Given the description of an element on the screen output the (x, y) to click on. 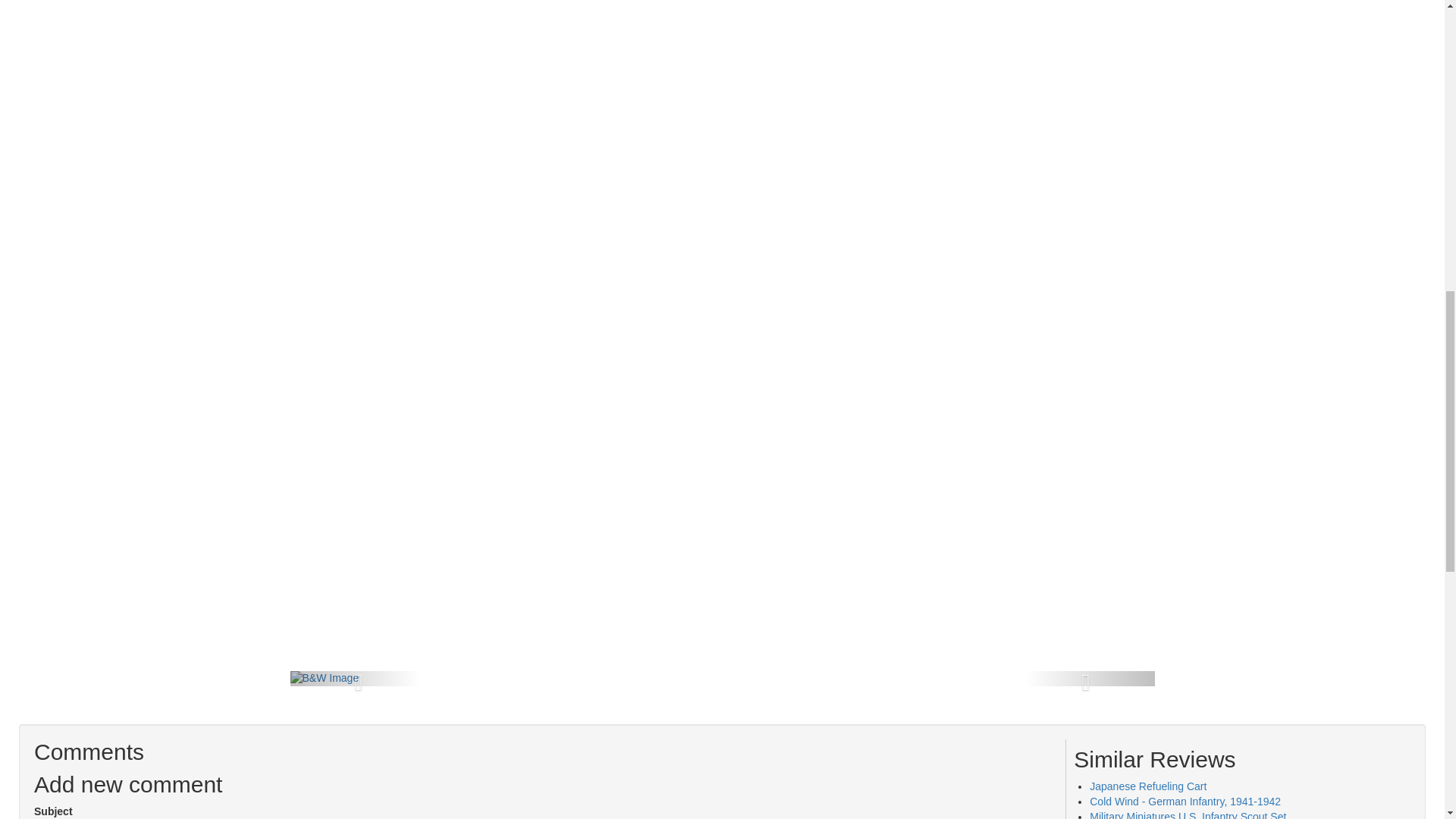
Next (1089, 678)
Previous (354, 678)
